Given the description of an element on the screen output the (x, y) to click on. 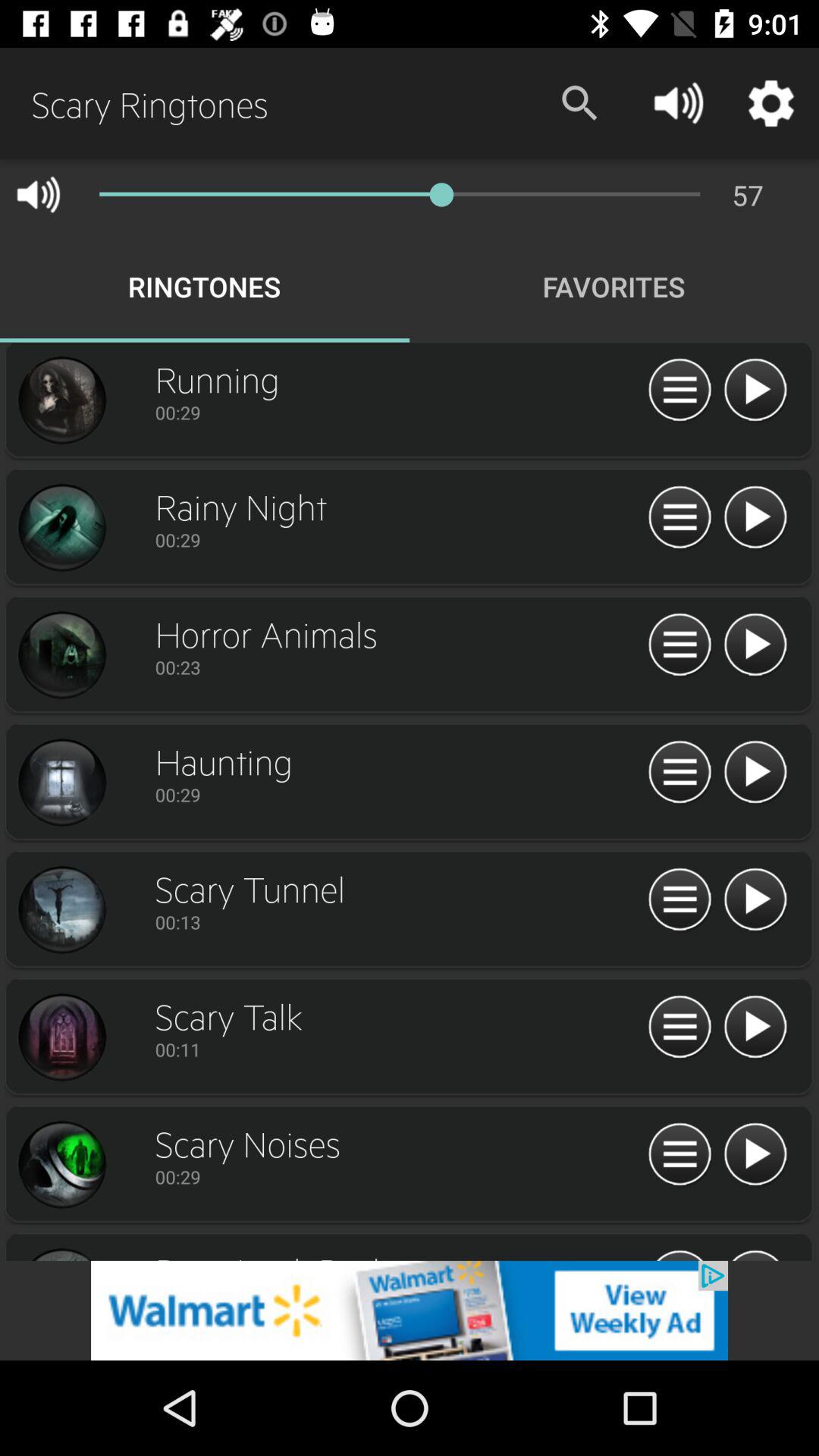
open author image (61, 1037)
